Given the description of an element on the screen output the (x, y) to click on. 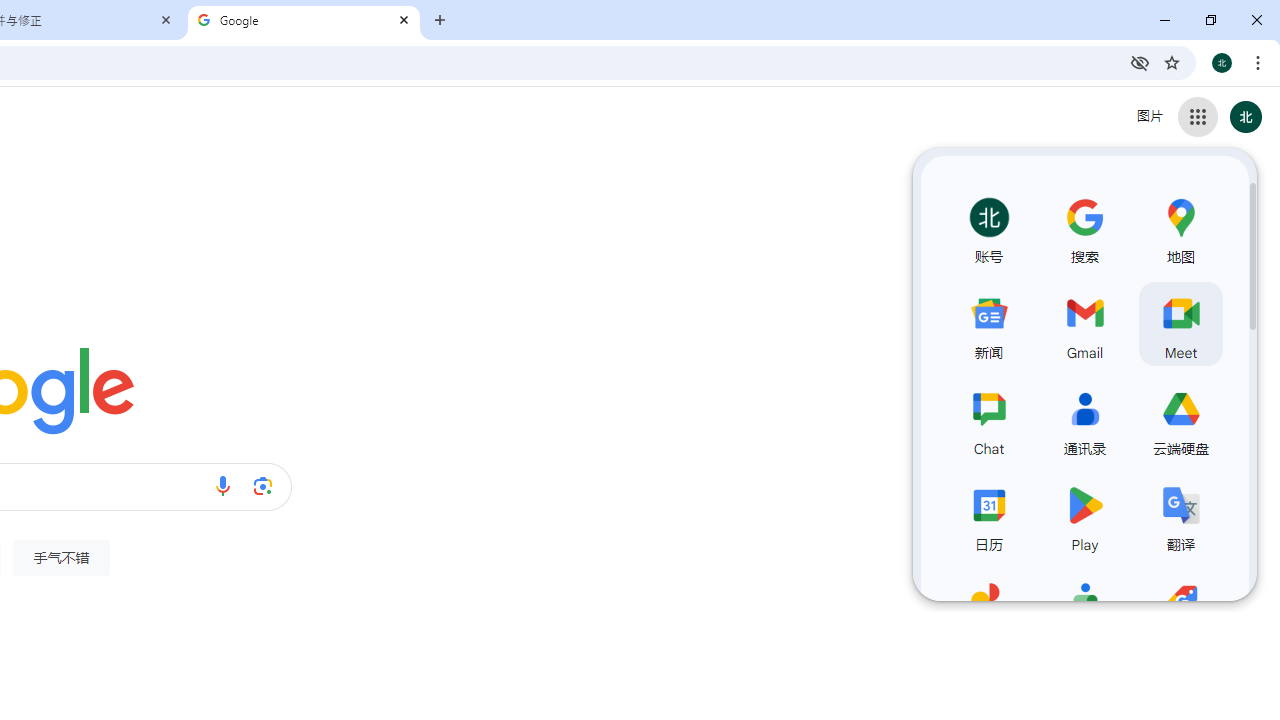
Google (304, 20)
